Given the description of an element on the screen output the (x, y) to click on. 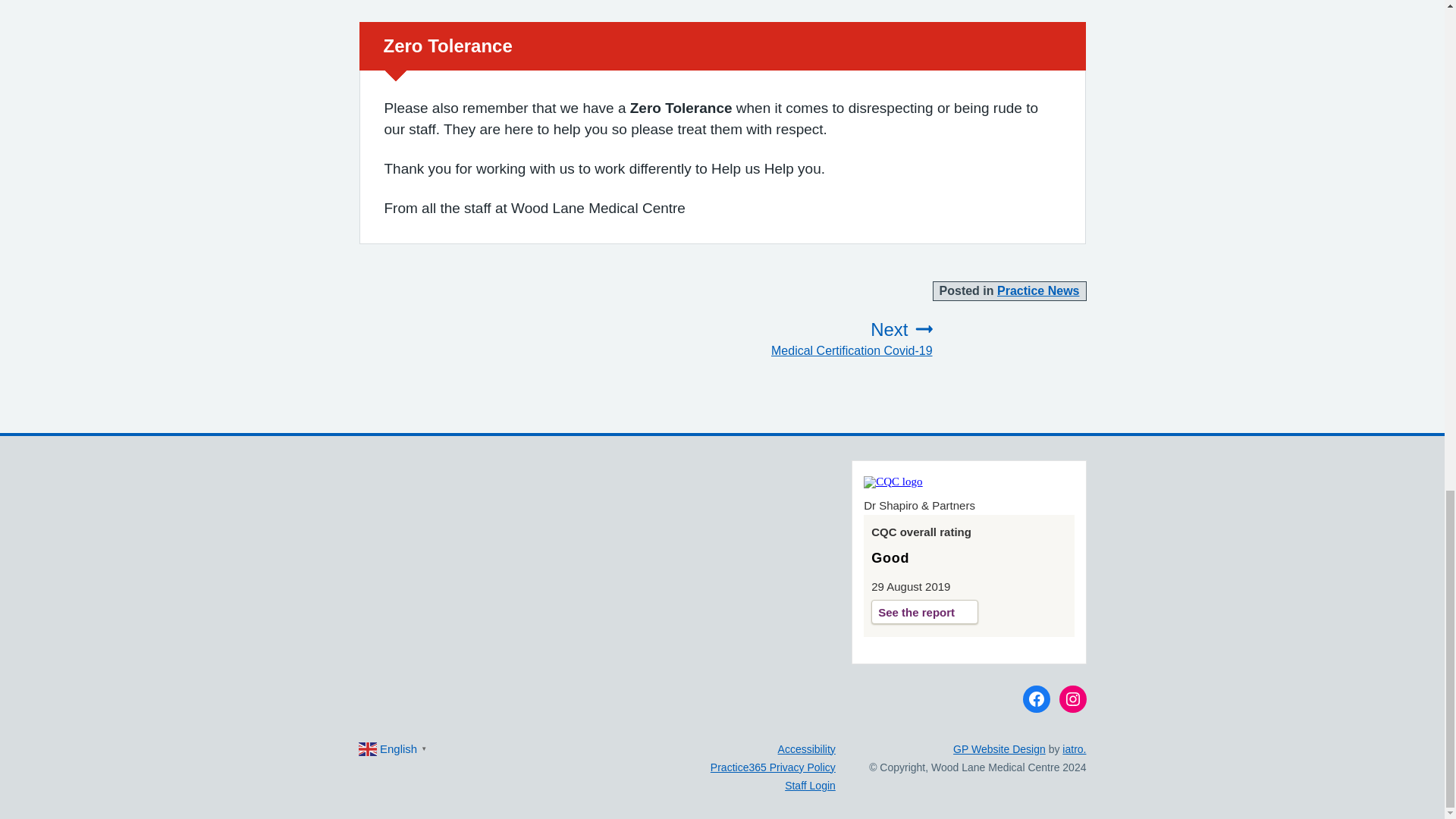
CQC Logo (892, 480)
See the report (823, 338)
Facebook (924, 610)
Practice News (1035, 698)
Instagram (1038, 290)
